Given the description of an element on the screen output the (x, y) to click on. 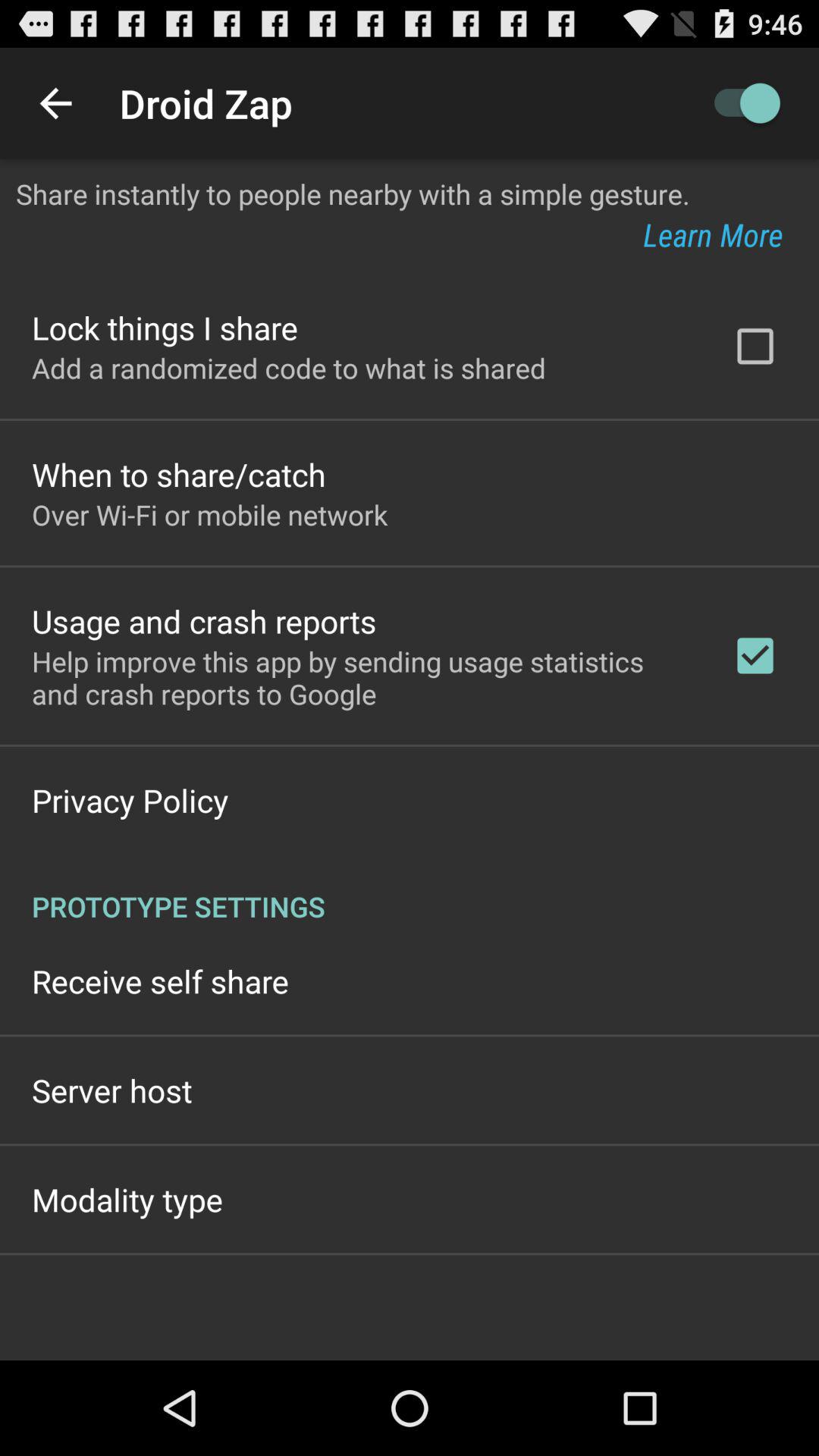
tap prototype settings (409, 890)
